Given the description of an element on the screen output the (x, y) to click on. 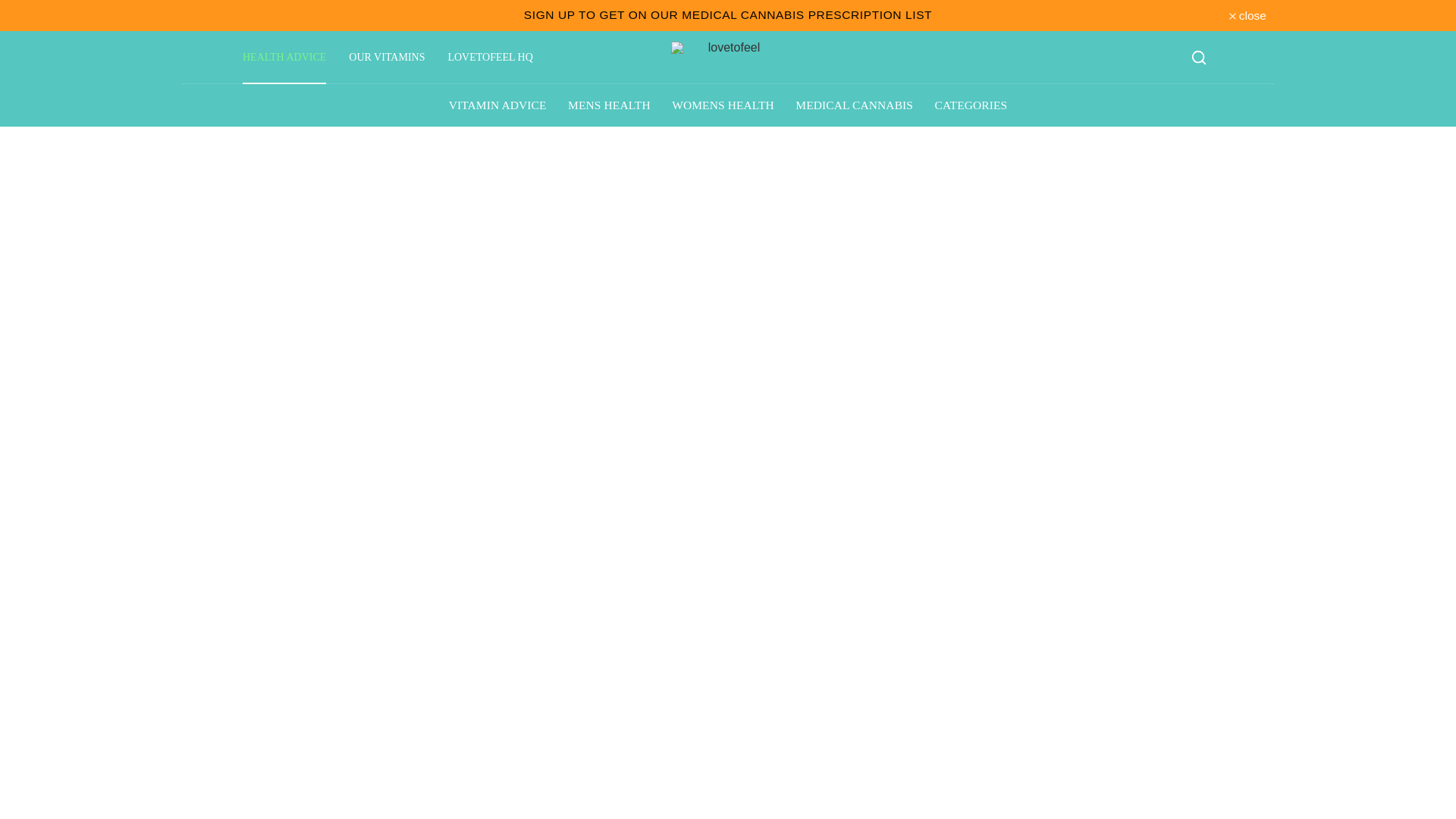
WOMENS HEALTH (722, 105)
VITAMIN ADVICE (497, 105)
MEDICAL CANNABIS (853, 105)
close (1247, 15)
SUBSCRIBE (727, 14)
OUR VITAMINS (386, 57)
HEALTH ADVICE (284, 57)
SIGN UP TO GET ON OUR MEDICAL CANNABIS PRESCRIPTION LIST (727, 14)
MENS HEALTH (609, 105)
Skip to content (10, 7)
LOVETOFEEL HQ (489, 57)
CATEGORIES (970, 105)
